Given the description of an element on the screen output the (x, y) to click on. 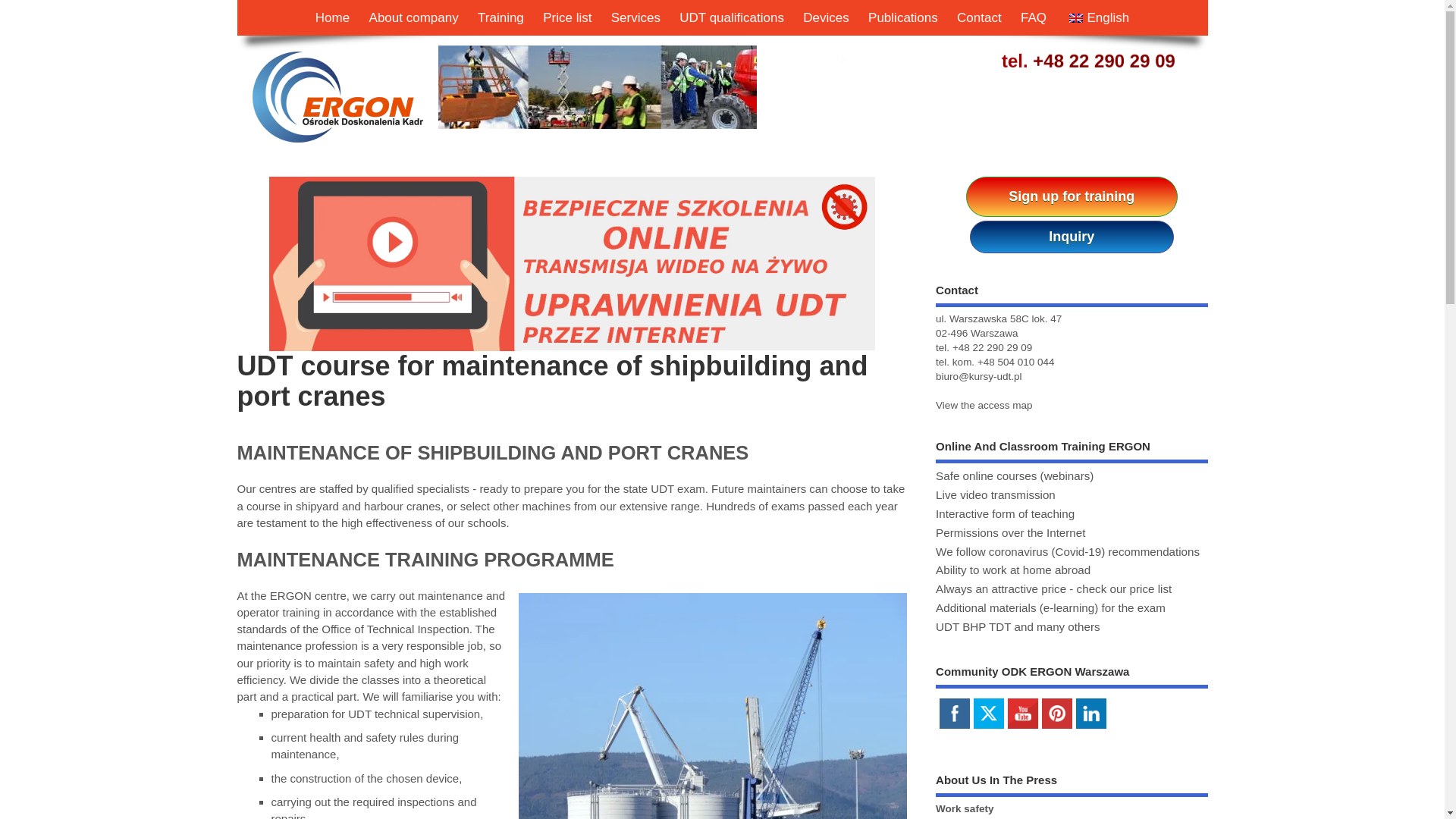
About company (414, 18)
Training (500, 18)
FACEBOOK (954, 713)
Home (332, 18)
